Given the description of an element on the screen output the (x, y) to click on. 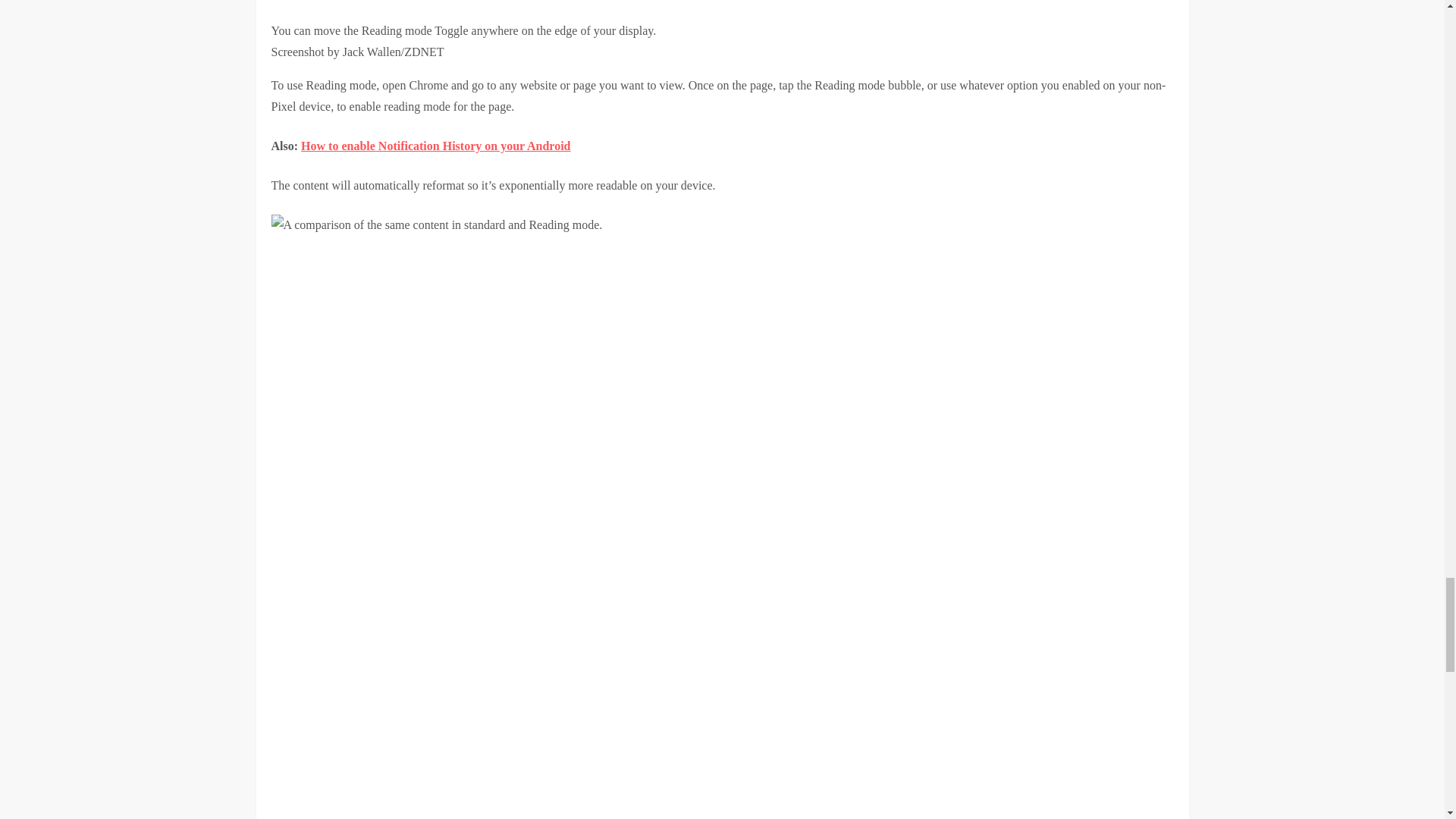
How to enable Notification History on your Android (435, 145)
